Given the description of an element on the screen output the (x, y) to click on. 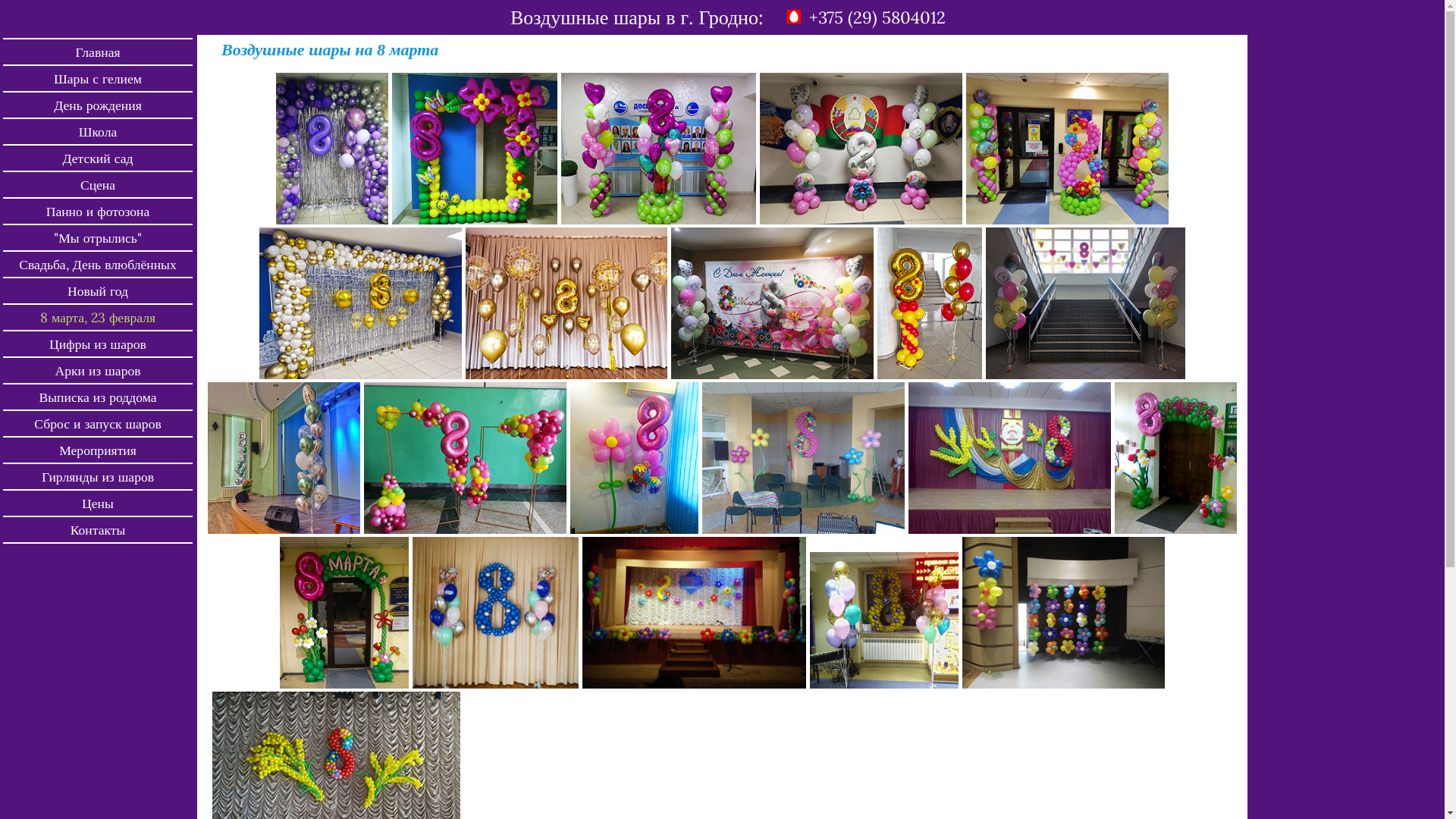
+375 (29) 5804012 Element type: text (877, 17)
